Given the description of an element on the screen output the (x, y) to click on. 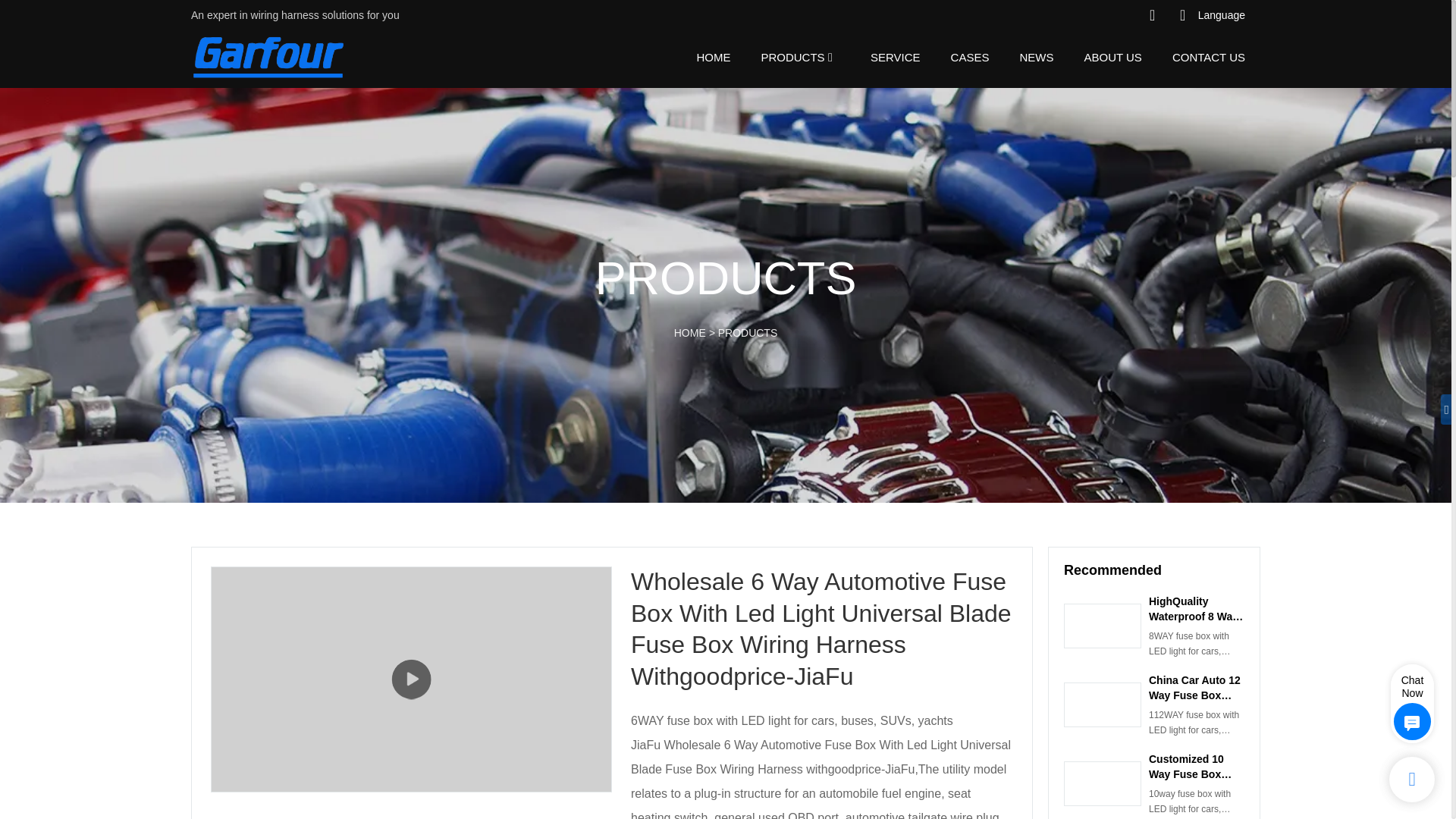
instagram (1053, 15)
facebook (1024, 15)
PRODUCTS (792, 56)
HOME (712, 56)
tiktok (1114, 15)
linkedin (1083, 15)
